Given the description of an element on the screen output the (x, y) to click on. 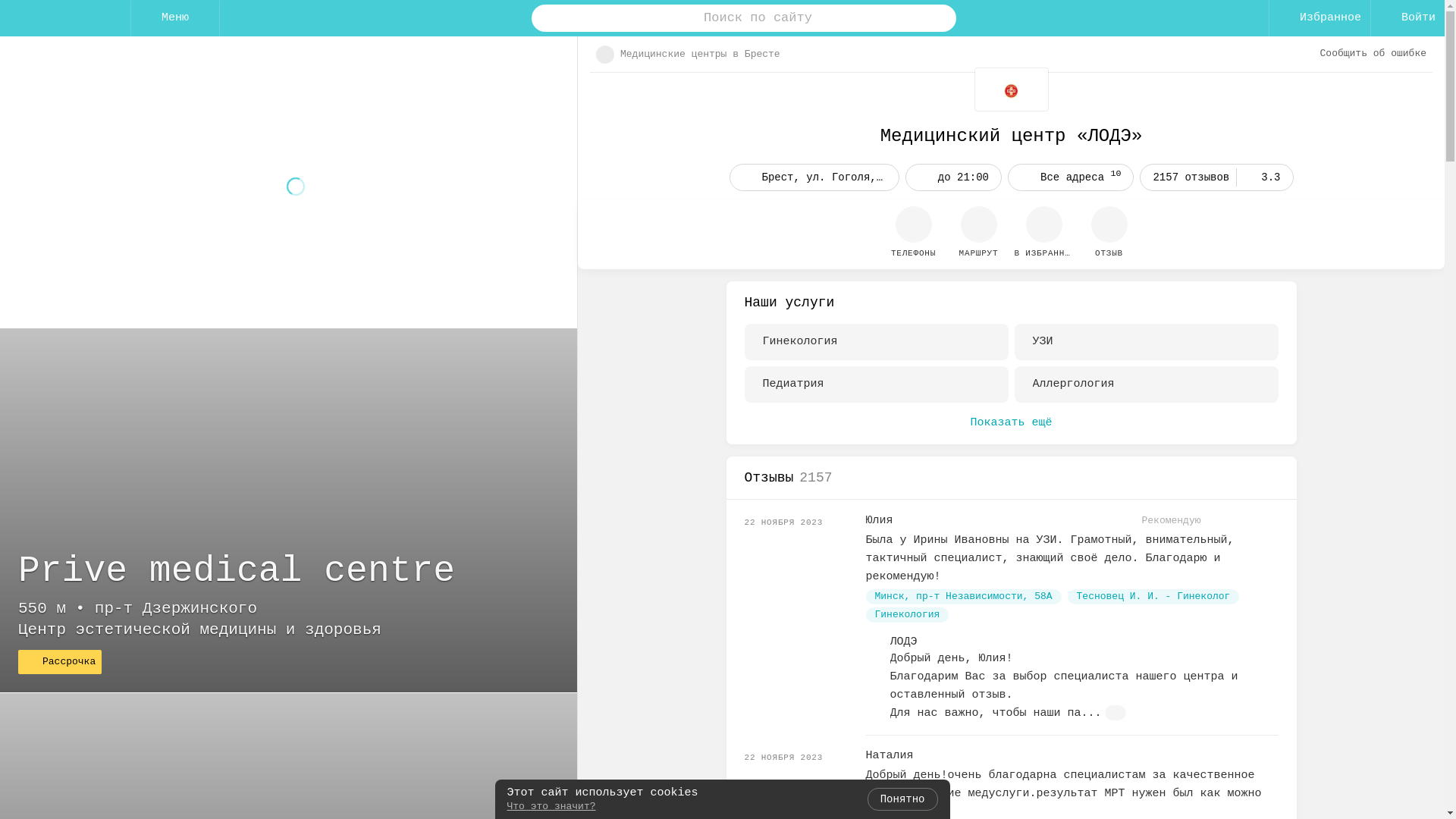
logo Element type: hover (65, 18)
